Given the description of an element on the screen output the (x, y) to click on. 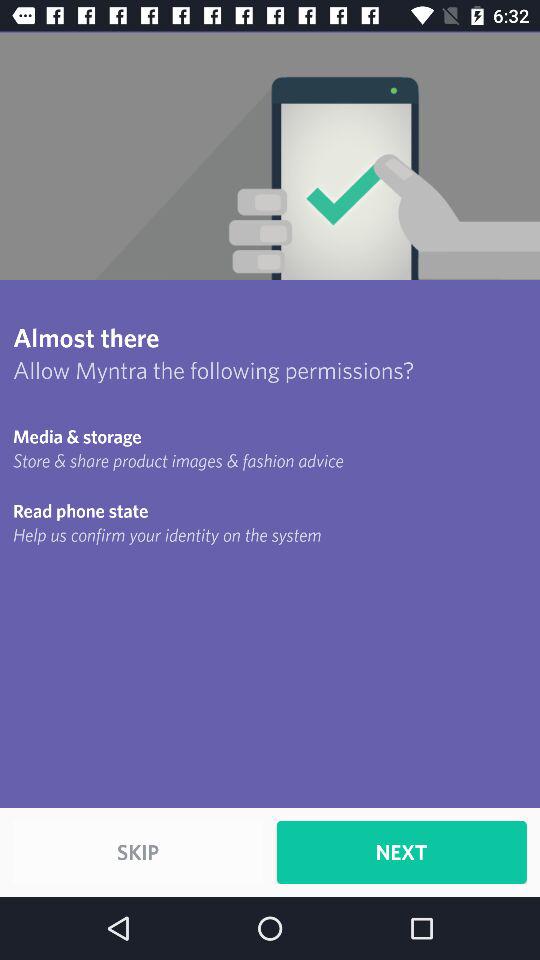
scroll until next item (401, 851)
